Given the description of an element on the screen output the (x, y) to click on. 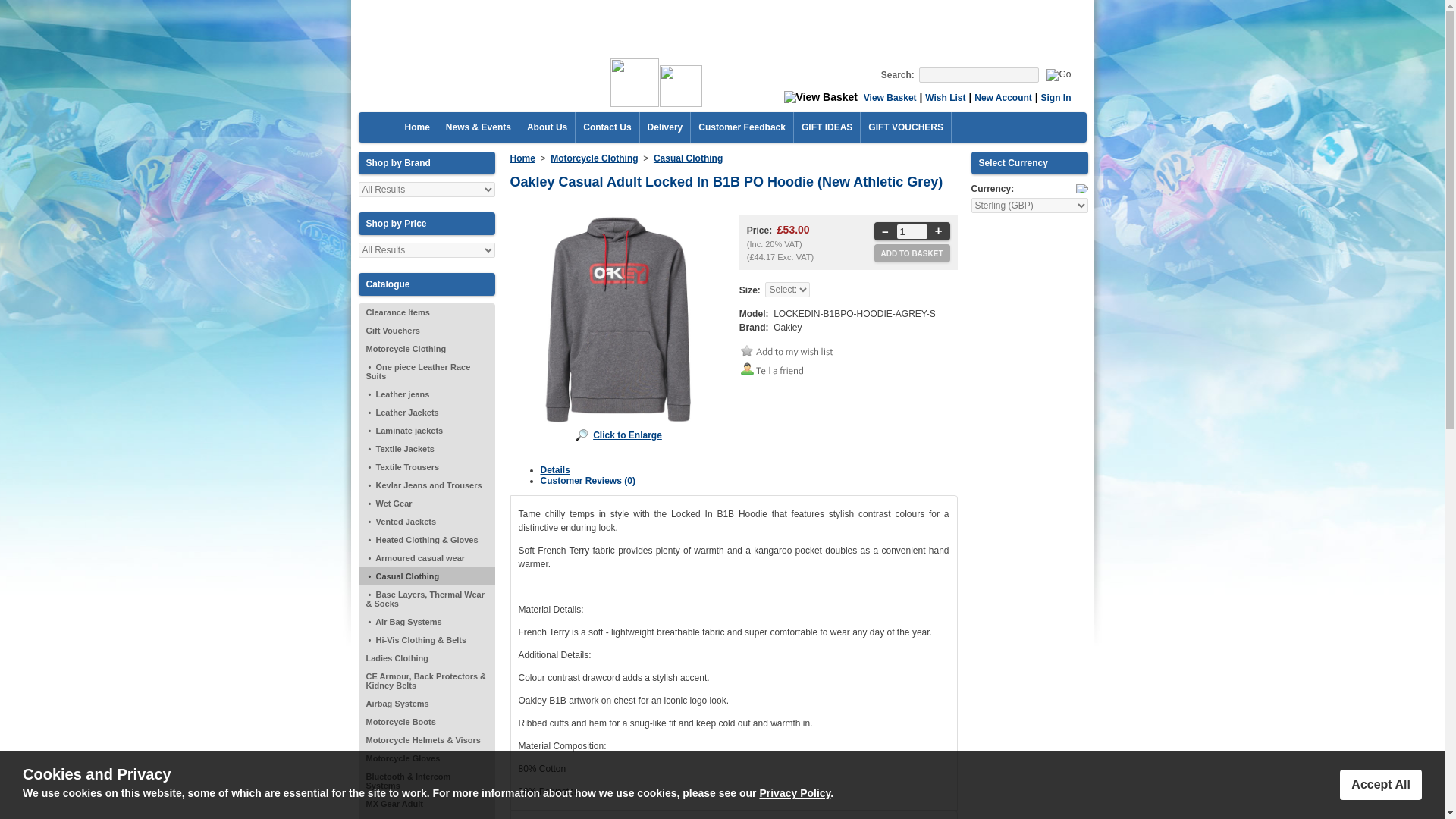
1 (911, 231)
What our customers say about us .. (742, 127)
Motorcycle Gloves (426, 758)
Airbag Systems (426, 703)
Gift Vouchers (426, 330)
Motorcycle Boots (426, 721)
Motorcycle Clothing (426, 348)
Add to Wish List (791, 350)
Clearance Items (426, 312)
MX Gear Adult (426, 803)
Go (1058, 74)
Go (1058, 74)
Click to Enlarge (618, 319)
Ladies Clothing (426, 658)
